Given the description of an element on the screen output the (x, y) to click on. 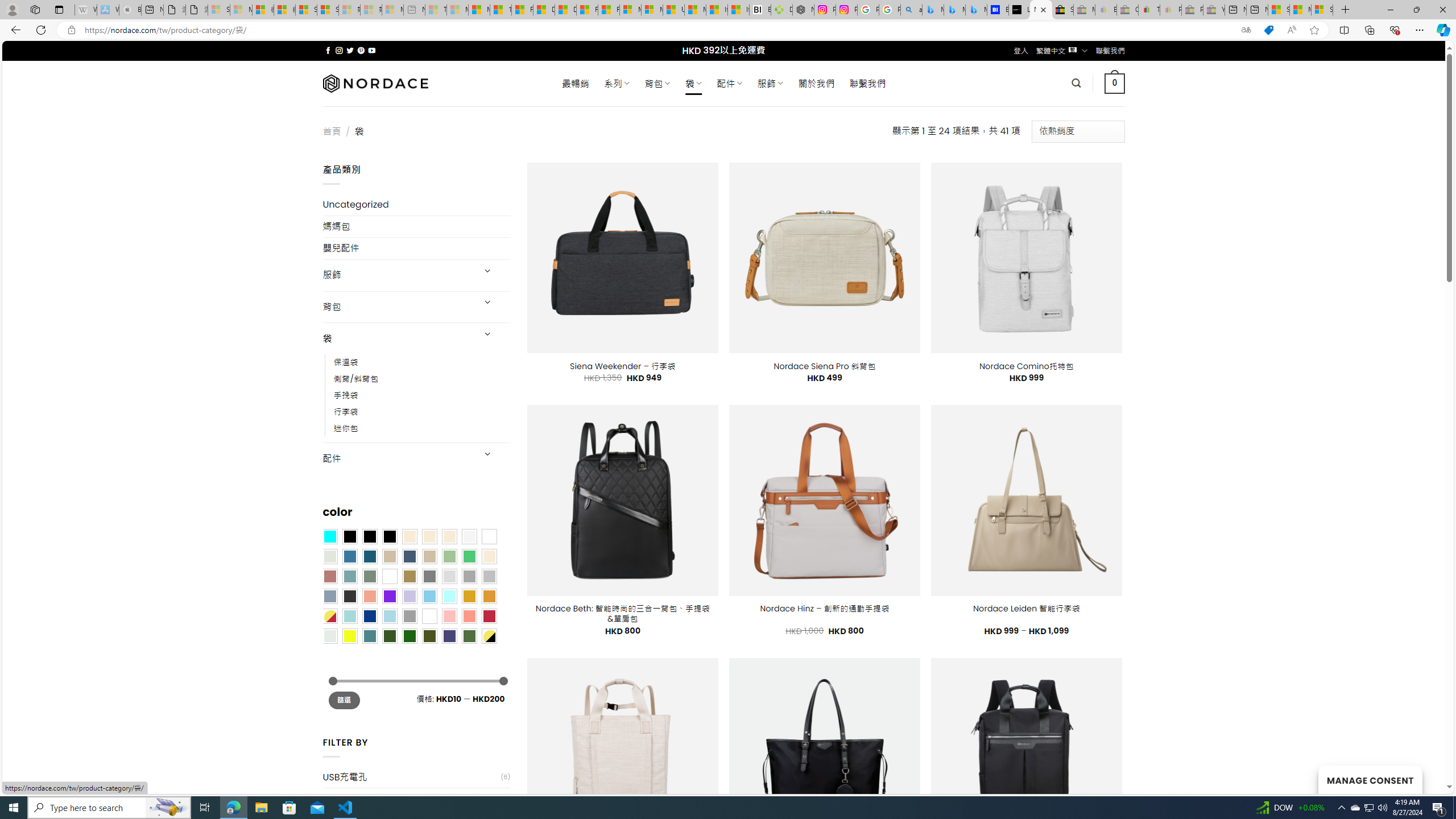
Cream (449, 536)
